Given the description of an element on the screen output the (x, y) to click on. 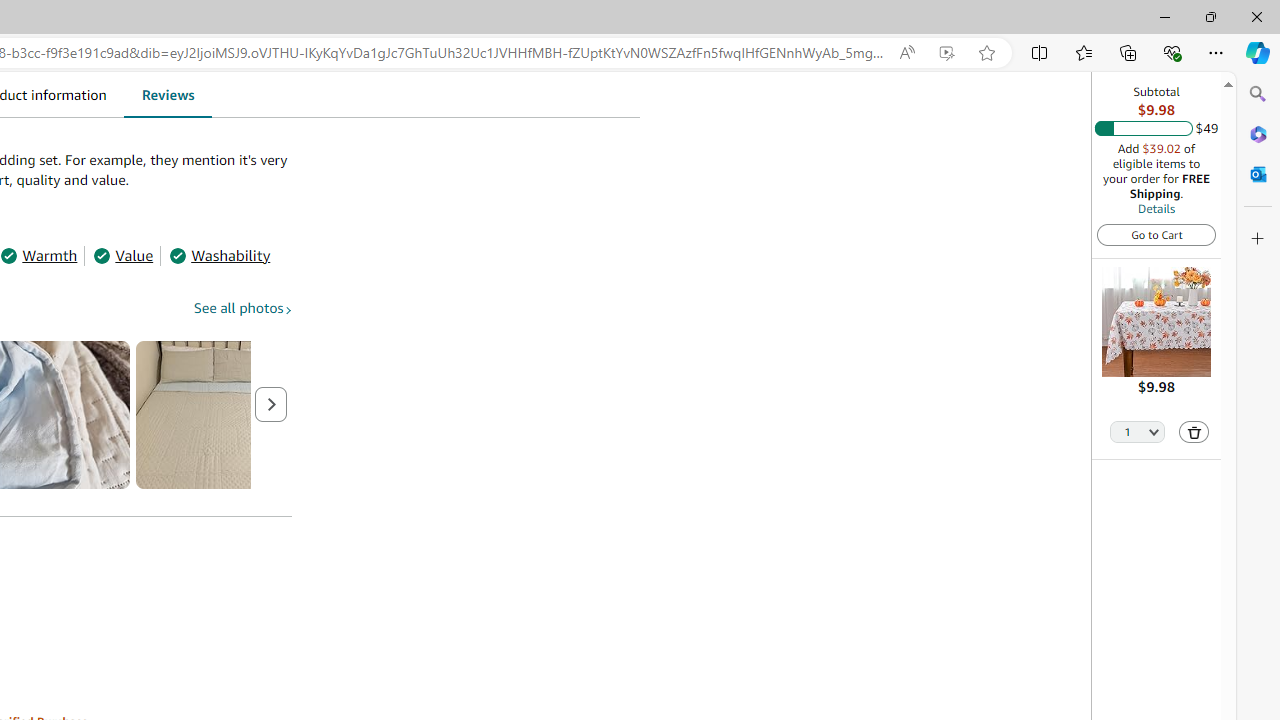
Reviews (167, 94)
